Given the description of an element on the screen output the (x, y) to click on. 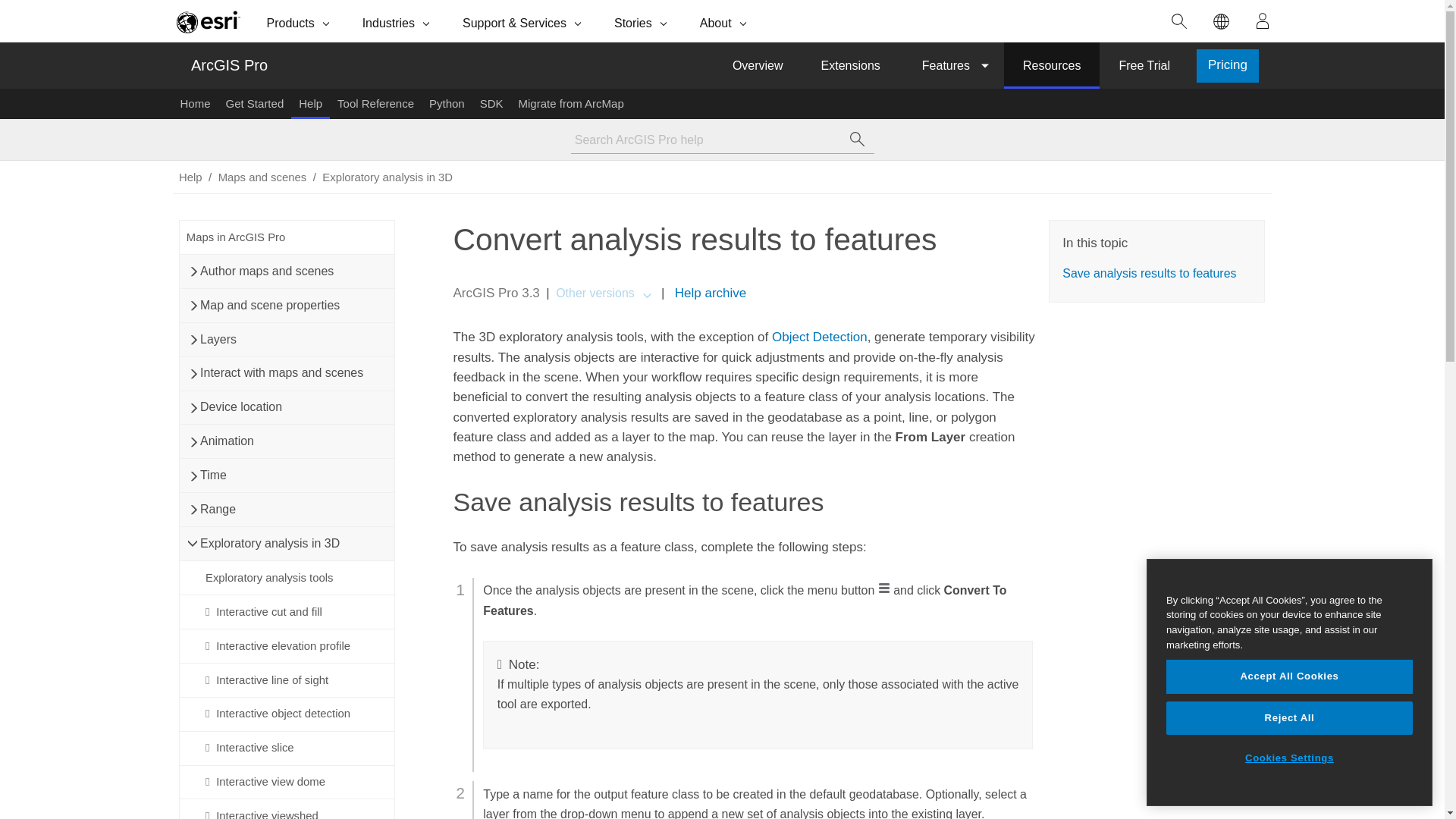
Sign In (1262, 20)
Industries (396, 20)
Esri home page (208, 21)
Menu (883, 588)
Esri home page (208, 21)
Search (1178, 20)
Esri home page (208, 21)
Products (299, 20)
Switch Language (1220, 20)
